Given the description of an element on the screen output the (x, y) to click on. 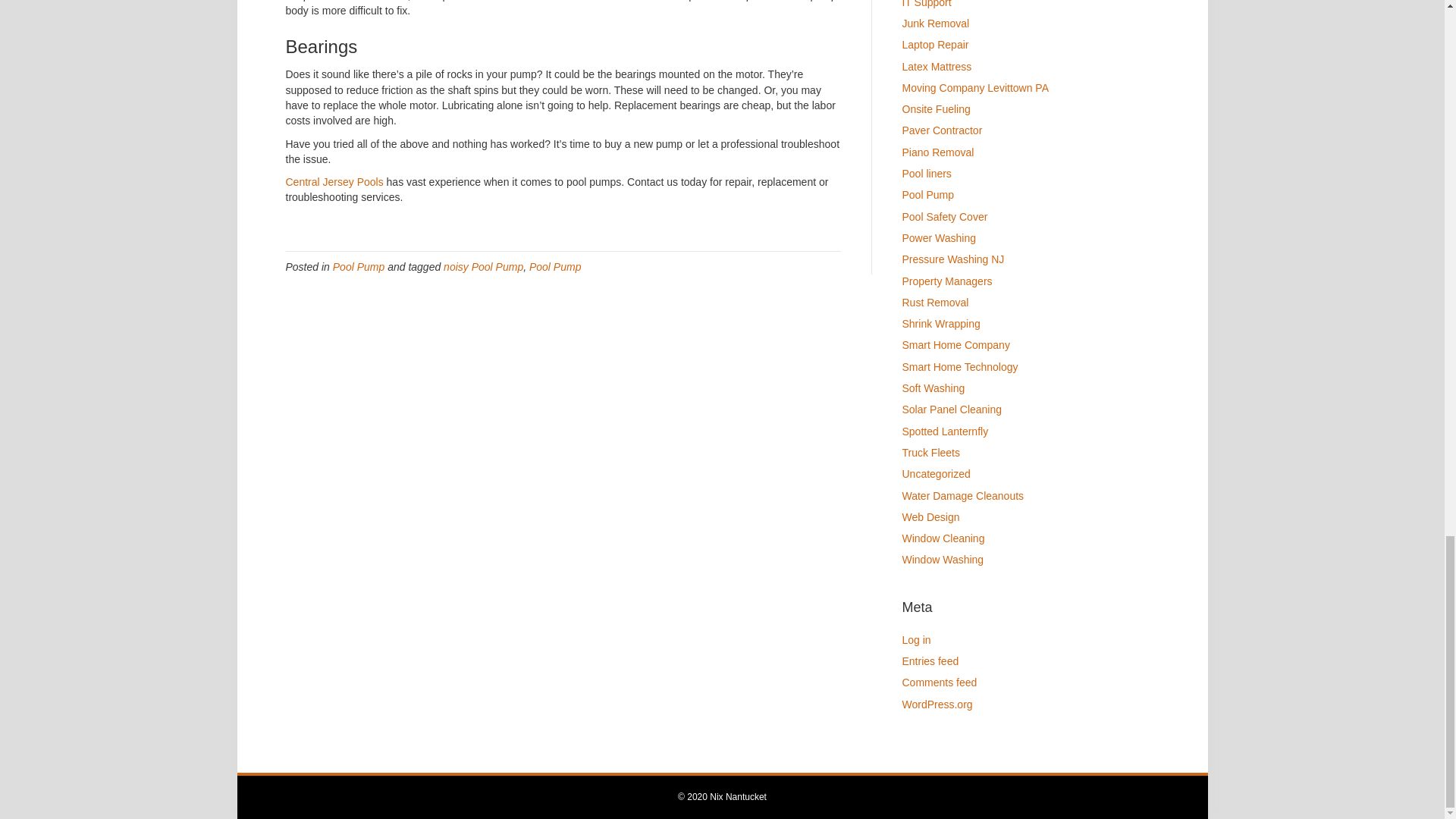
Pool Pump (554, 266)
noisy Pool Pump (483, 266)
Central Jersey Pools (333, 182)
Pool Pump (358, 266)
